Given the description of an element on the screen output the (x, y) to click on. 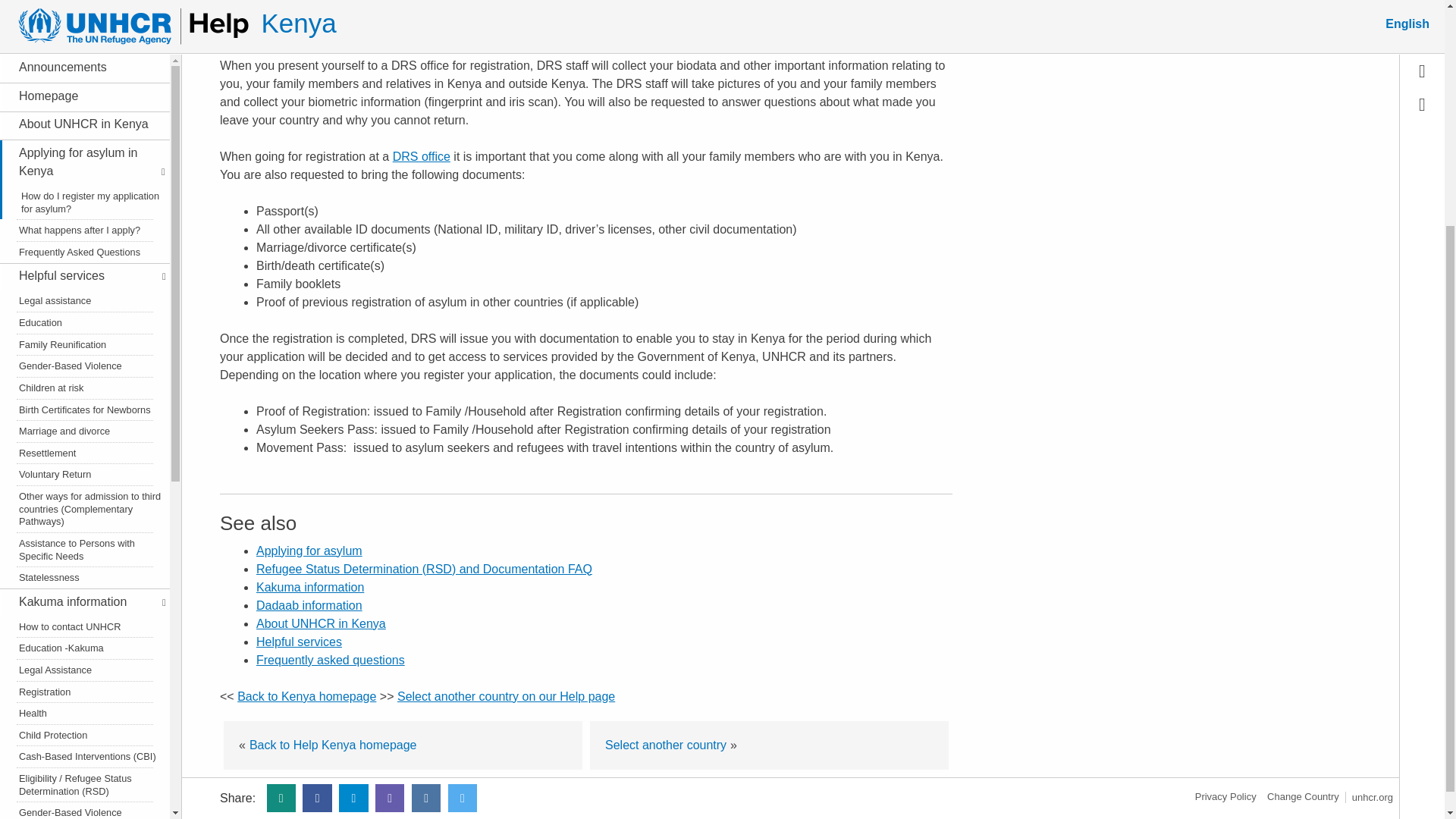
Livelihoods and Economic inclusion (85, 676)
Gender-Based Violence (85, 501)
Mental Health and Psychosocial Support (85, 597)
Children at risk (85, 76)
Voluntary Return (85, 163)
Statelessness (85, 266)
Legal Assistance (85, 358)
Kakuma information (81, 290)
help.unhcr.org (1302, 796)
Assistance to Persons with Specific Needs (85, 237)
UNHCR - the UN Refugee Agency (1372, 797)
How to contact UNHCR (85, 315)
Registration (85, 381)
Education -Kakuma (85, 336)
Documentation (85, 626)
